Given the description of an element on the screen output the (x, y) to click on. 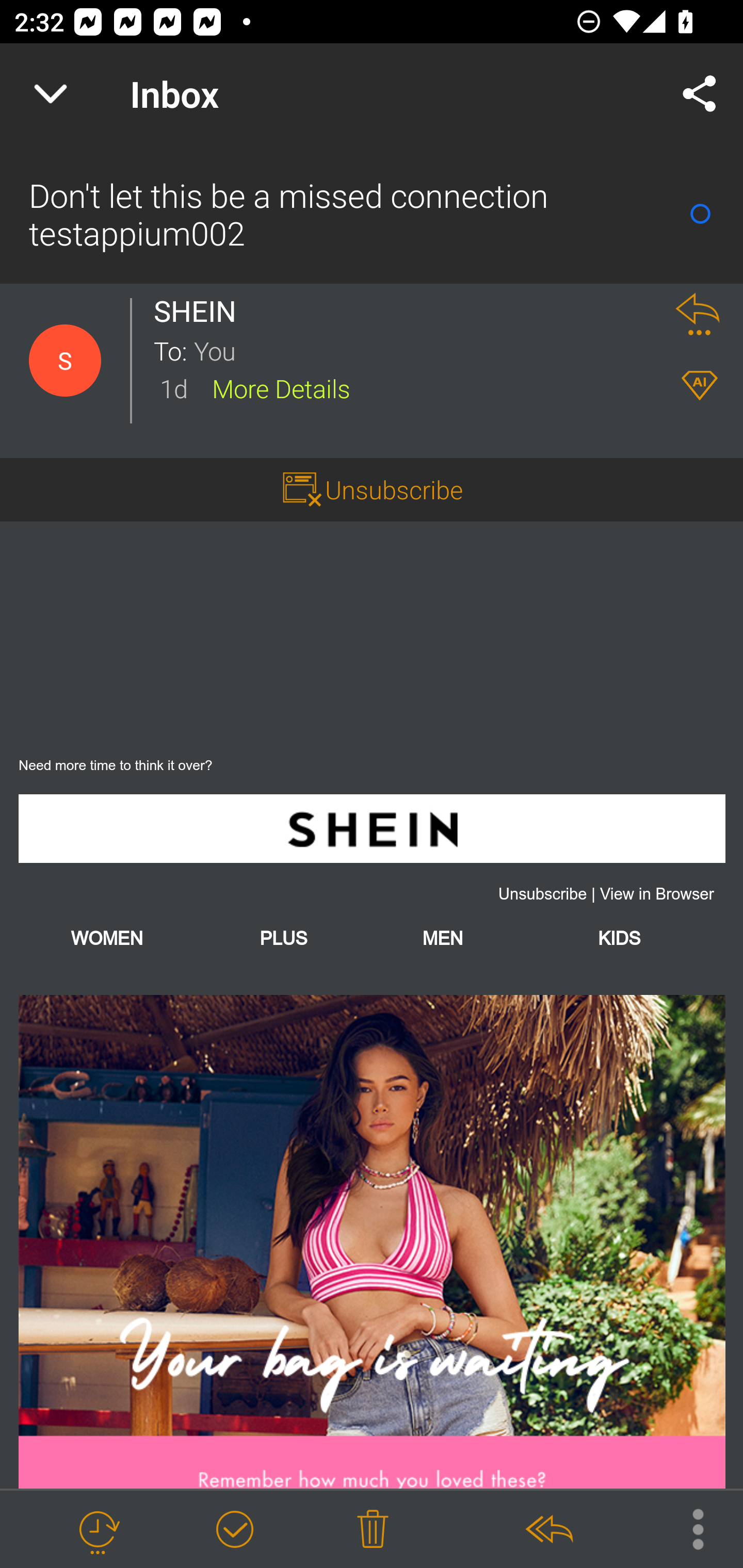
Navigate up (50, 93)
Share (699, 93)
Mark as Read (699, 213)
SHEIN (200, 310)
Contact Details (64, 360)
More Details (280, 387)
Unsubscribe (393, 488)
Need more time to think it over? (115, 764)
SHEIN (371, 827)
Unsubscribe (542, 894)
View in Browser (656, 894)
WOMEN (106, 939)
PLUS (282, 939)
MEN (441, 939)
KIDS (618, 939)
cart (371, 1240)
More Options (687, 1528)
Snooze (97, 1529)
Mark as Done (234, 1529)
Delete (372, 1529)
Reply All (548, 1529)
